Given the description of an element on the screen output the (x, y) to click on. 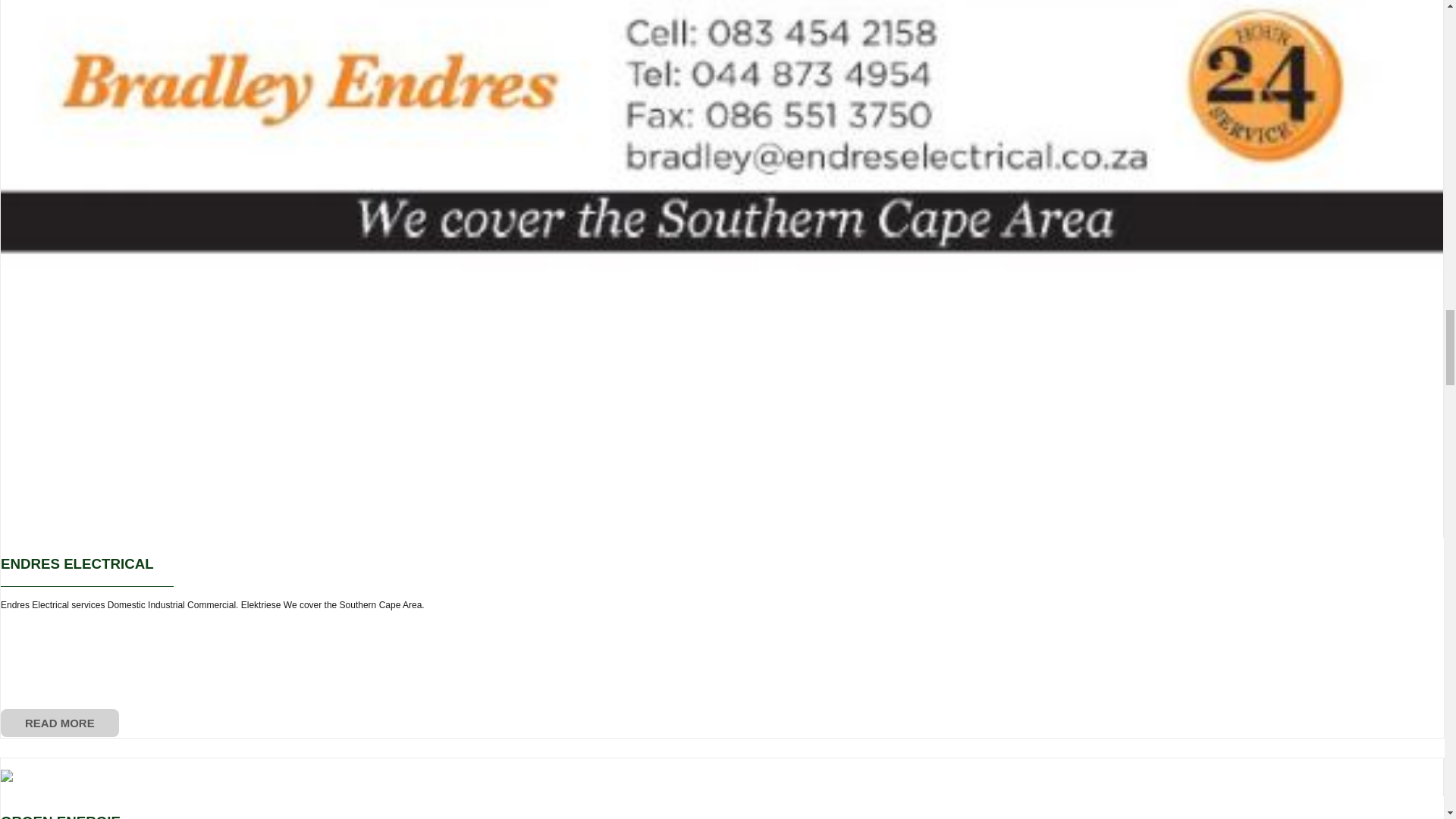
READ MORE (60, 723)
GROEN ENERGIE (60, 816)
ENDRES ELECTRICAL (77, 563)
